Given the description of an element on the screen output the (x, y) to click on. 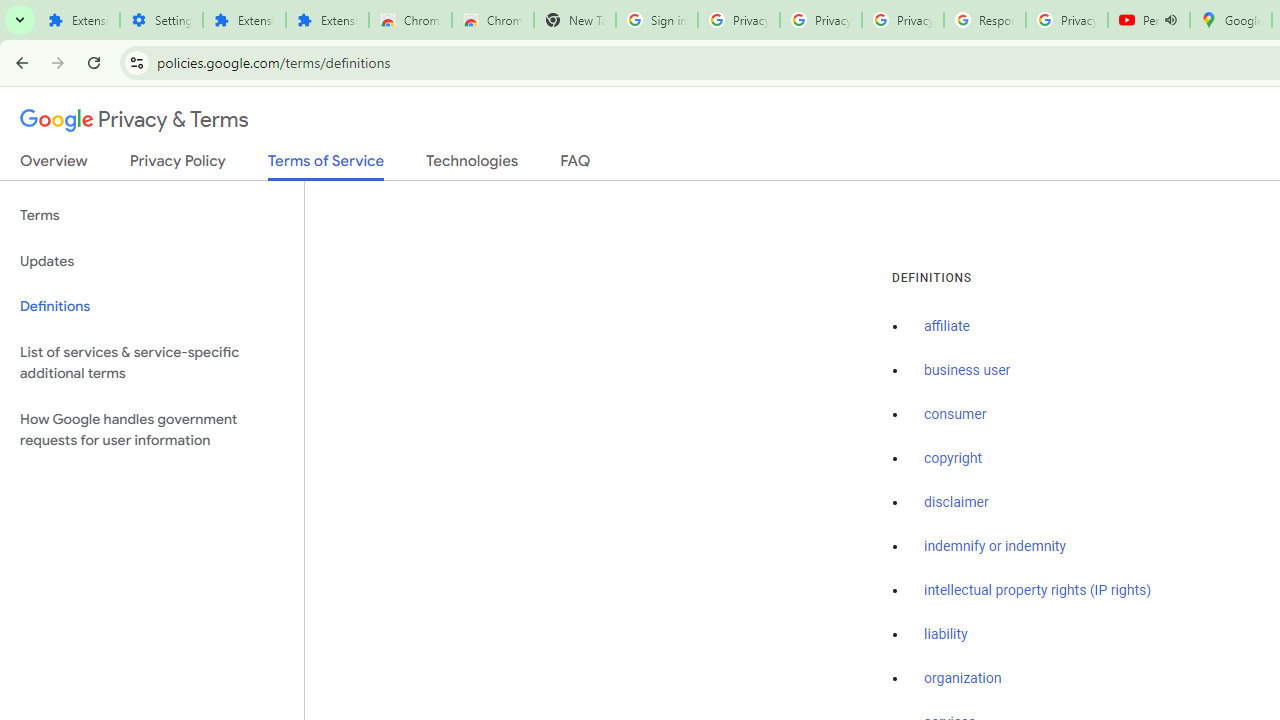
Extensions (244, 20)
How Google handles government requests for user information (152, 429)
indemnify or indemnity (995, 546)
intellectual property rights (IP rights) (1038, 590)
liability (945, 634)
affiliate (947, 327)
Chrome Web Store - Themes (492, 20)
